Given the description of an element on the screen output the (x, y) to click on. 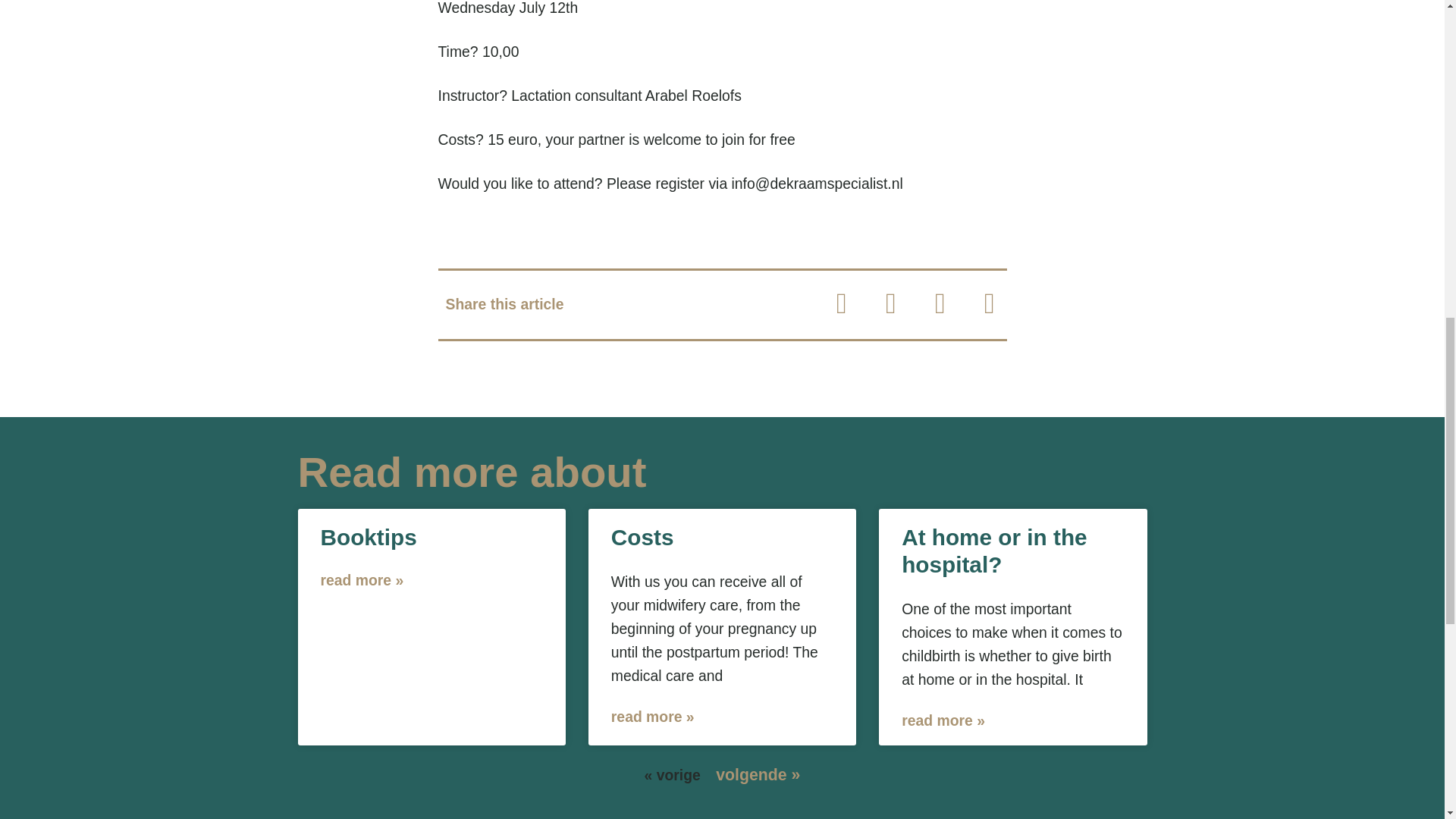
At home or in the hospital? (993, 550)
Booktips (368, 536)
Costs (642, 536)
